Given the description of an element on the screen output the (x, y) to click on. 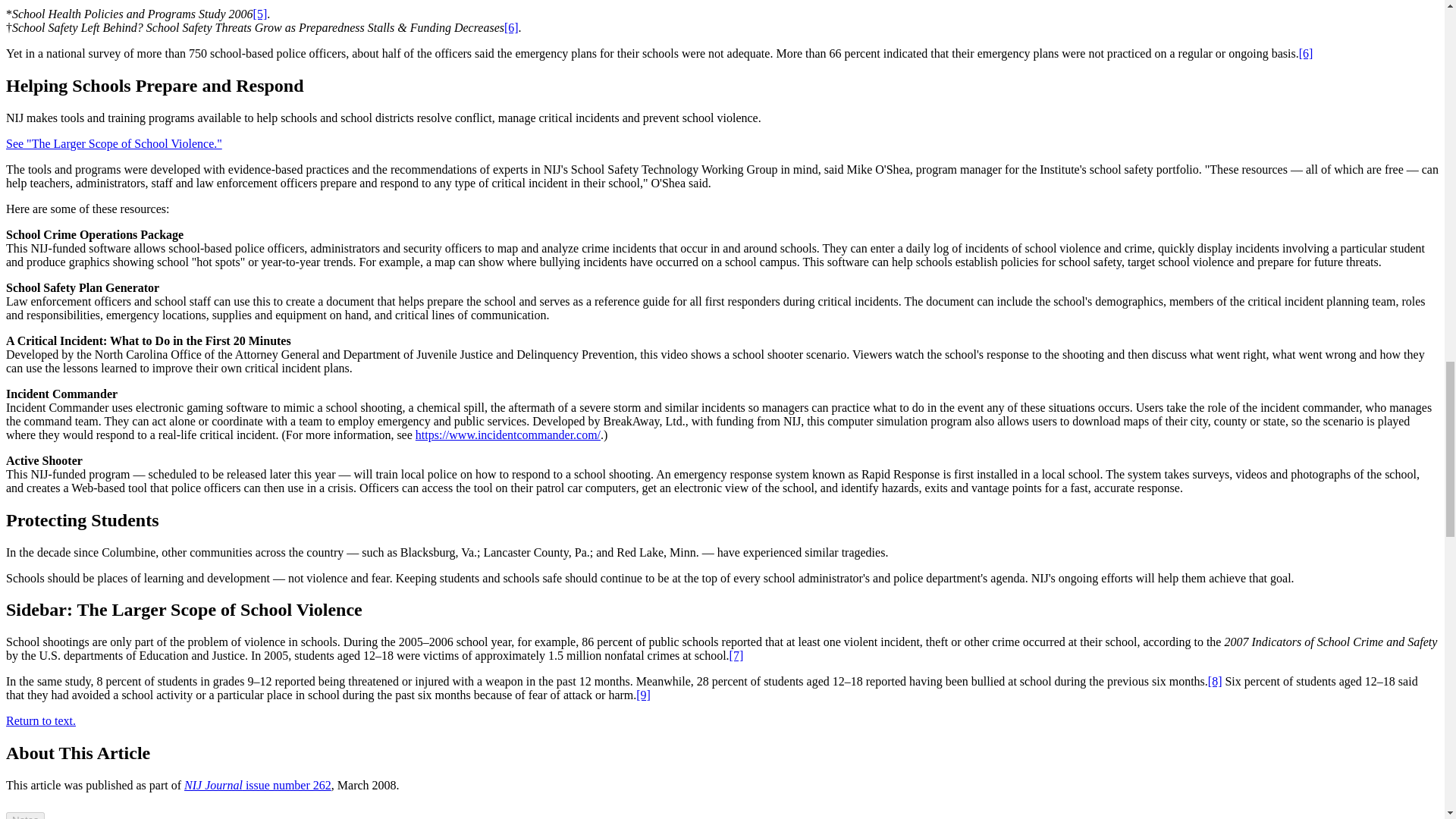
See "The Larger Scope of School Violence." (113, 143)
